Given the description of an element on the screen output the (x, y) to click on. 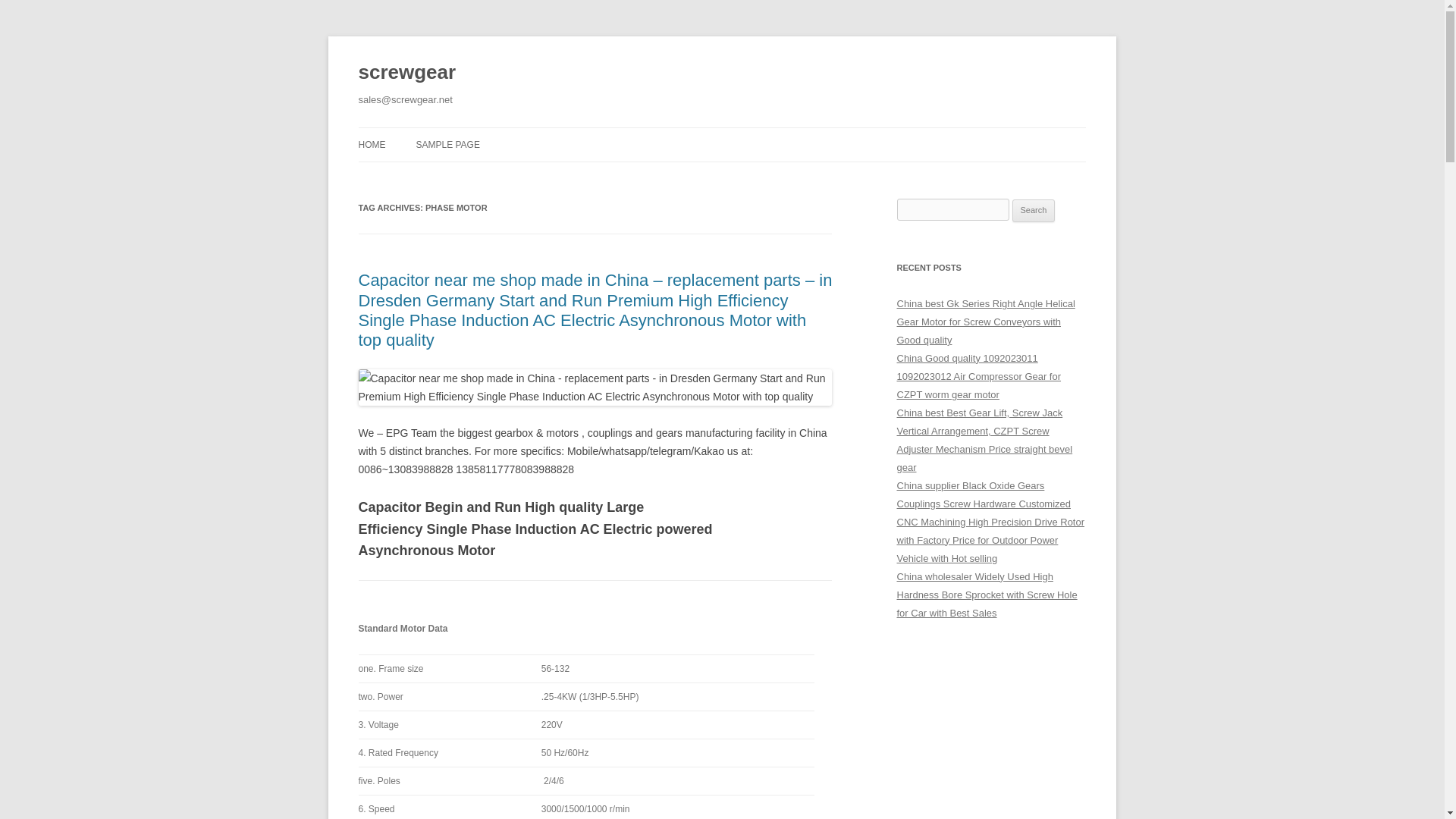
SAMPLE PAGE (446, 144)
Search (1033, 210)
screwgear (406, 72)
screwgear (406, 72)
